Given the description of an element on the screen output the (x, y) to click on. 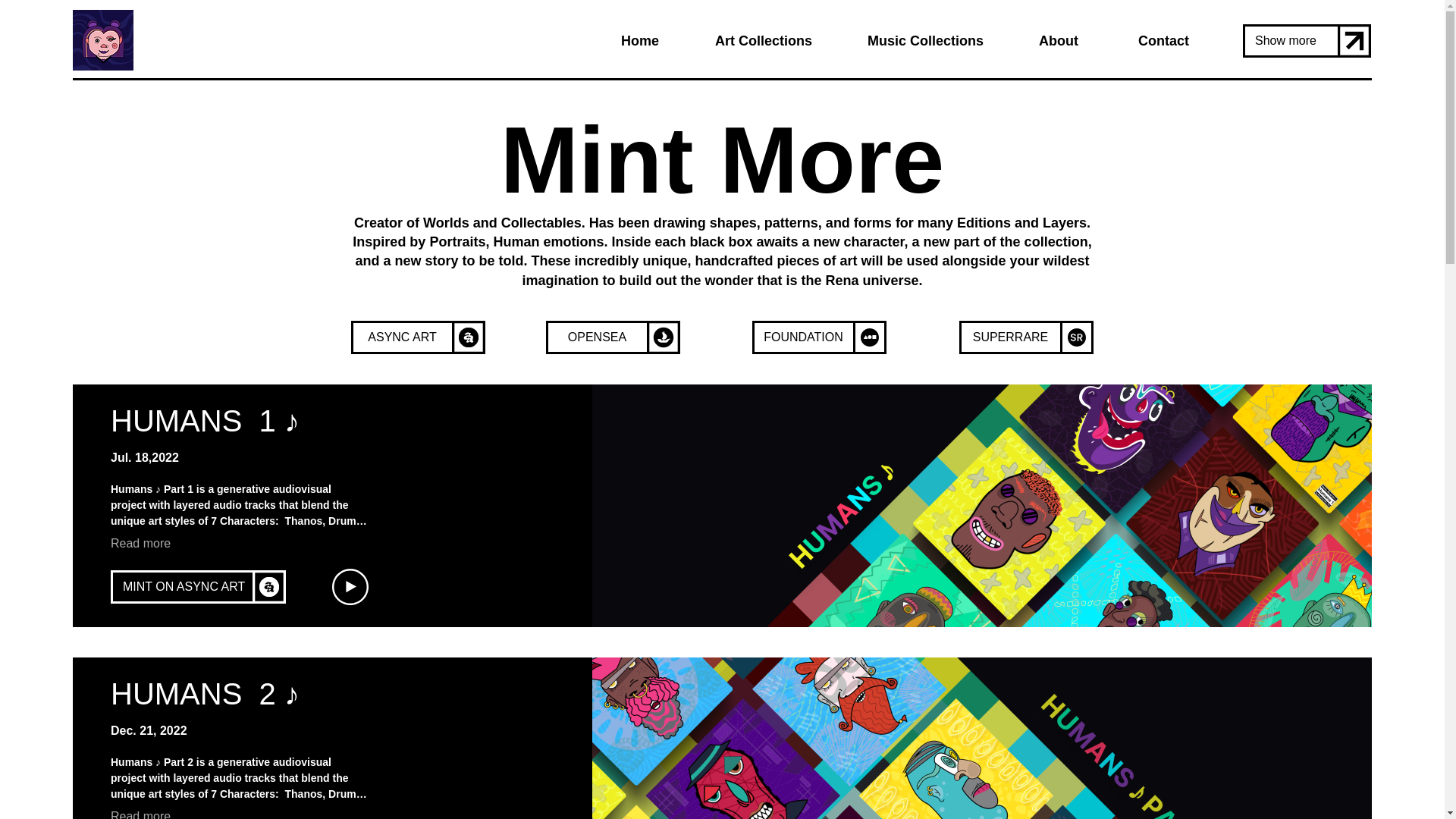
SUPERRARE (1009, 337)
Art Collections (746, 40)
Show more (1291, 40)
Read more (140, 814)
Contact (1144, 40)
Home (622, 40)
FOUNDATION (804, 337)
Frame 132334663.png (102, 39)
MINT ON ASYNC ART (182, 586)
ASYNC ART (401, 337)
